Given the description of an element on the screen output the (x, y) to click on. 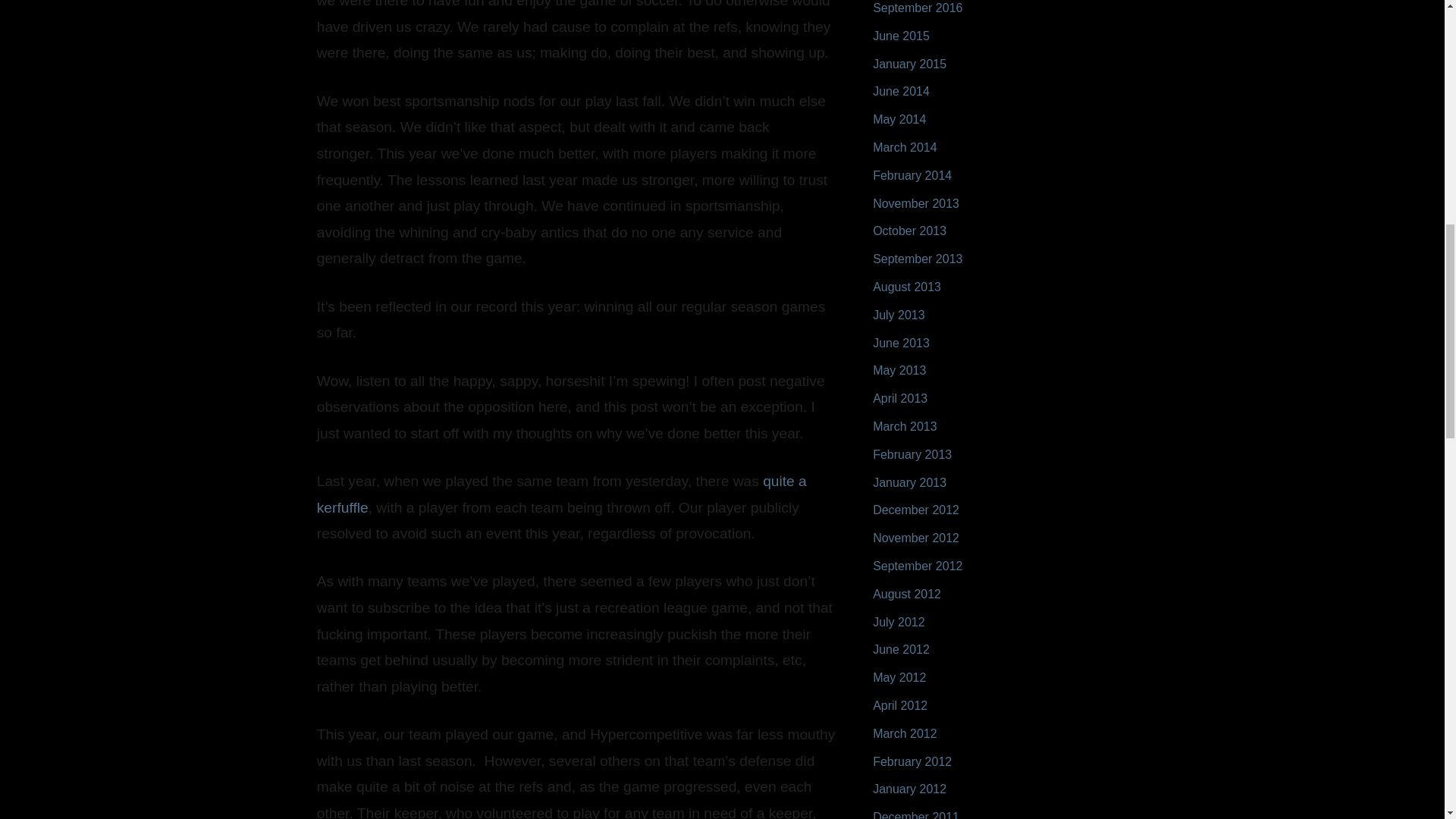
July 2013 (898, 314)
March 2014 (904, 146)
January 2015 (909, 63)
October 2013 (909, 230)
September 2016 (917, 7)
quite a kerfuffle (561, 494)
May 2013 (899, 369)
August 2013 (906, 286)
June 2014 (901, 91)
June 2015 (901, 35)
